Given the description of an element on the screen output the (x, y) to click on. 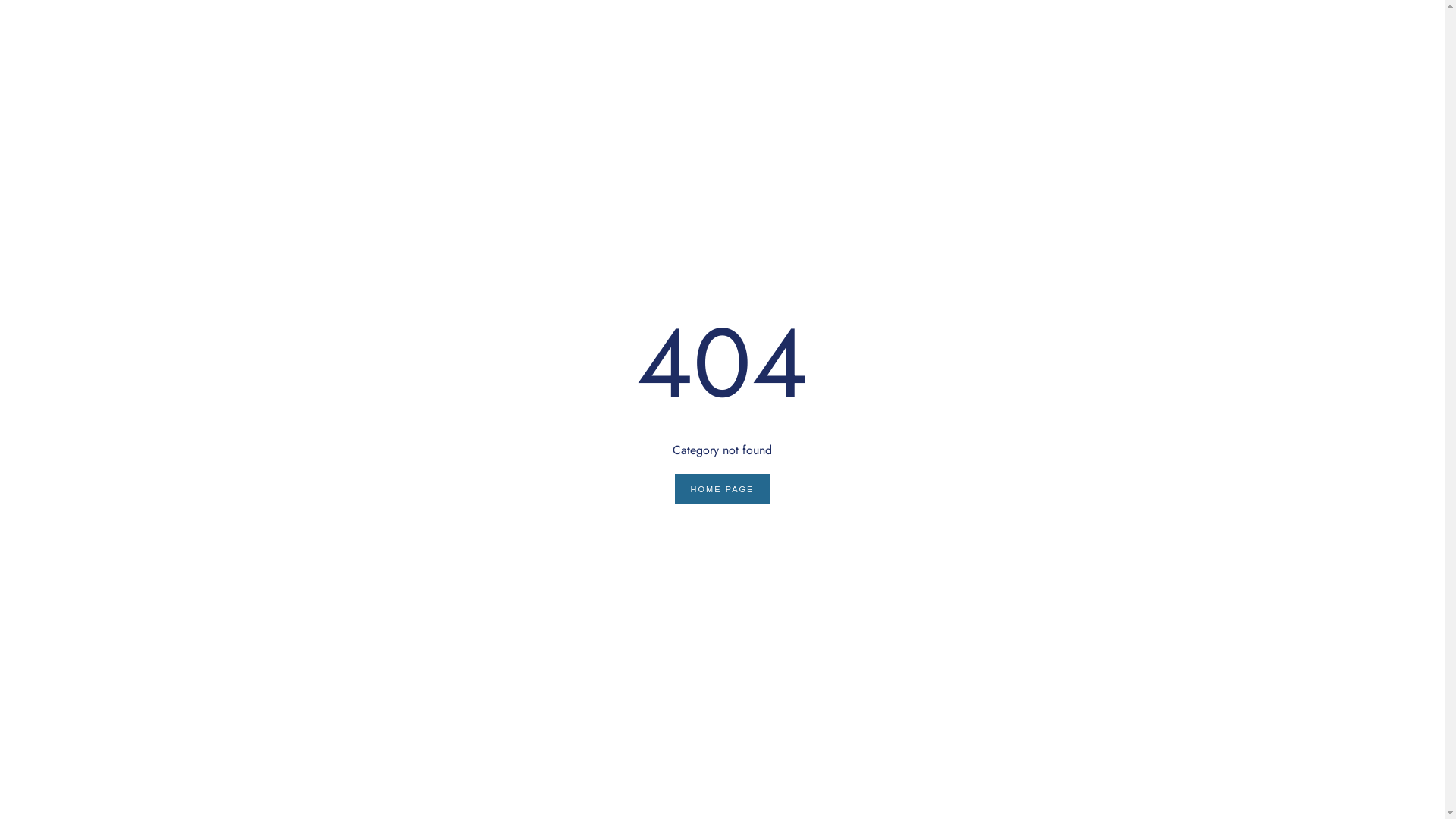
HOME PAGE Element type: text (722, 488)
